Given the description of an element on the screen output the (x, y) to click on. 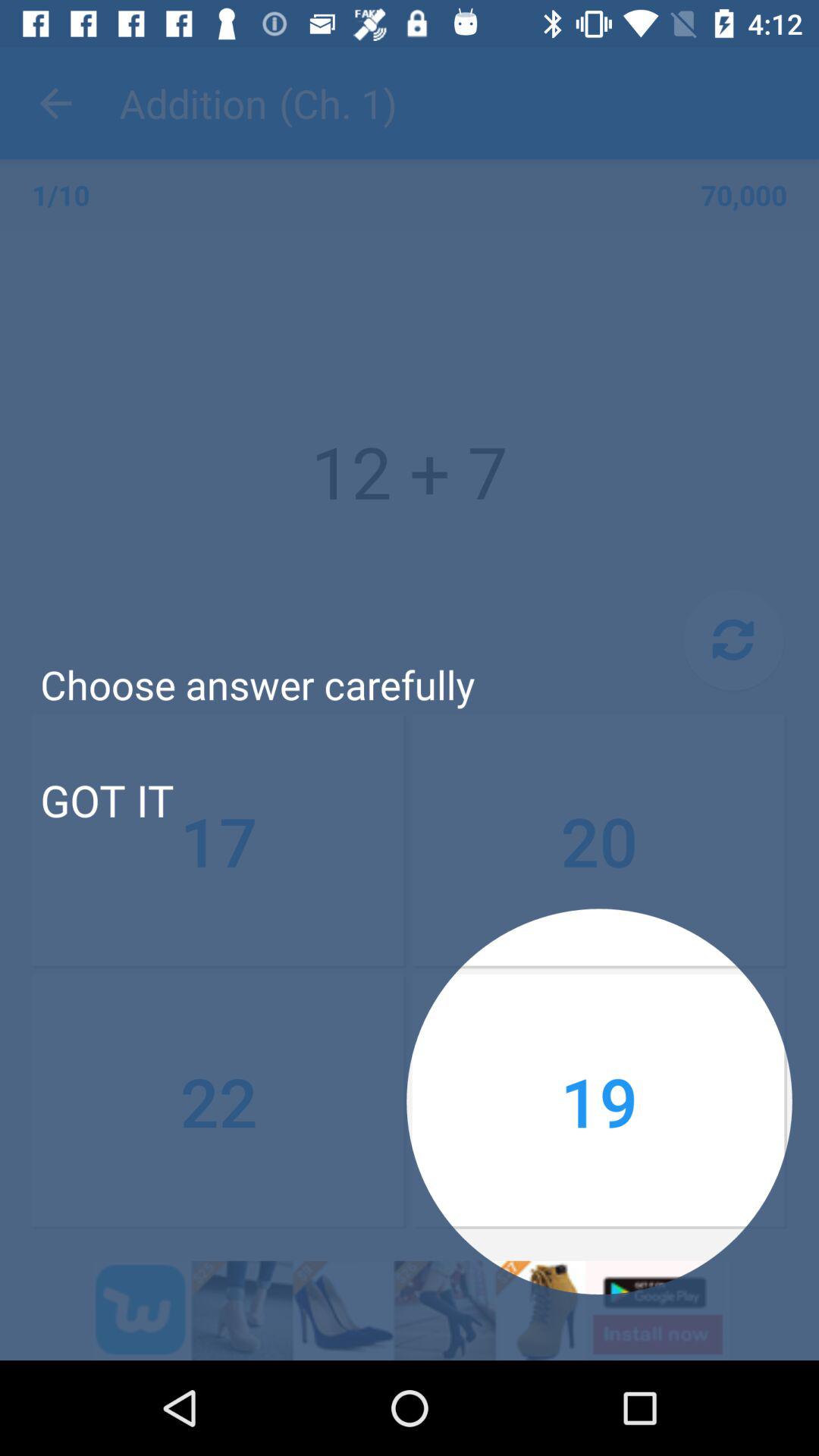
press the item below the choose answer carefully icon (599, 840)
